Given the description of an element on the screen output the (x, y) to click on. 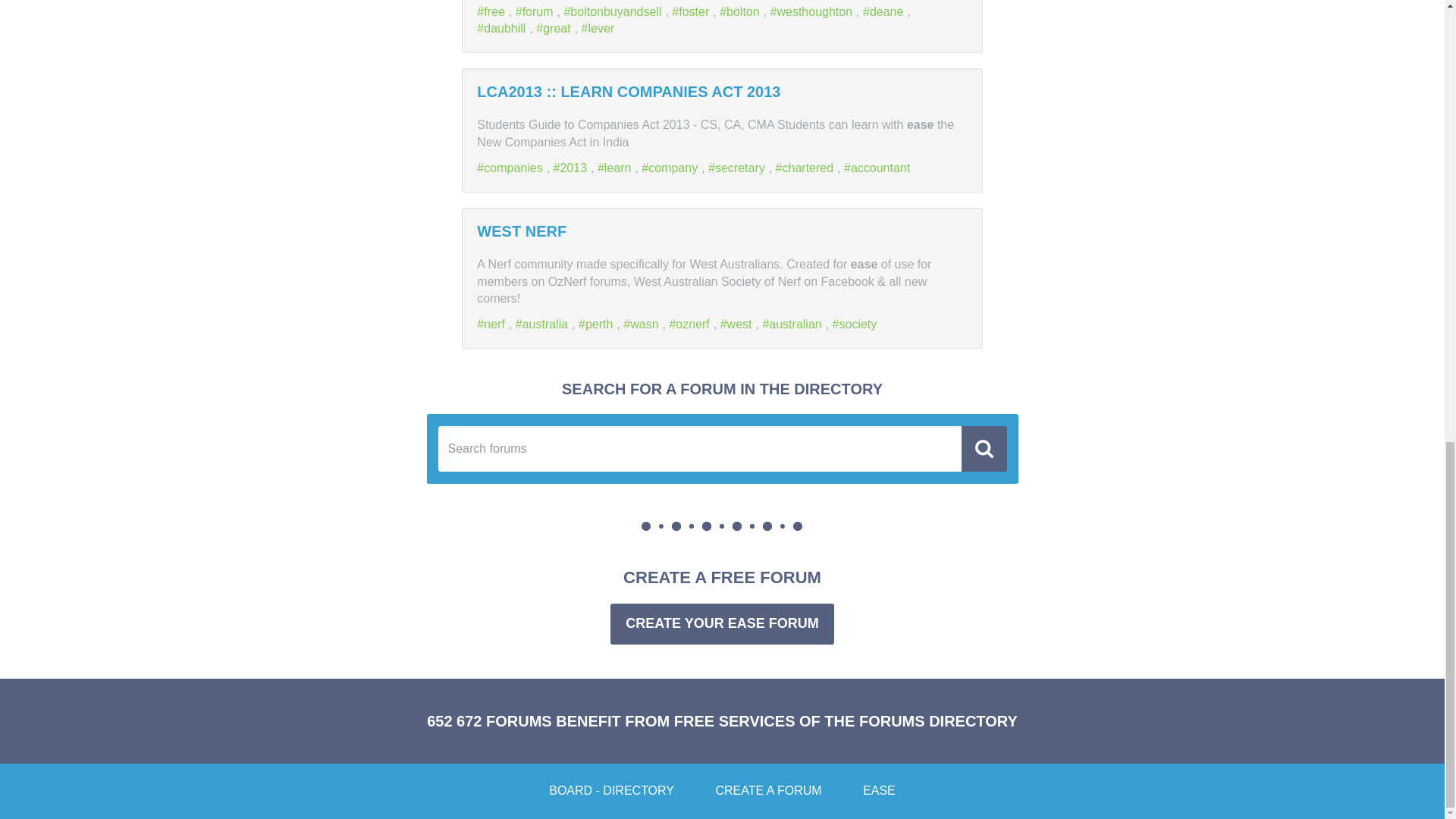
westhoughton (813, 11)
boltonbuyandsell (614, 11)
bolton (740, 11)
foster (692, 11)
free (492, 11)
forum (536, 11)
